Given the description of an element on the screen output the (x, y) to click on. 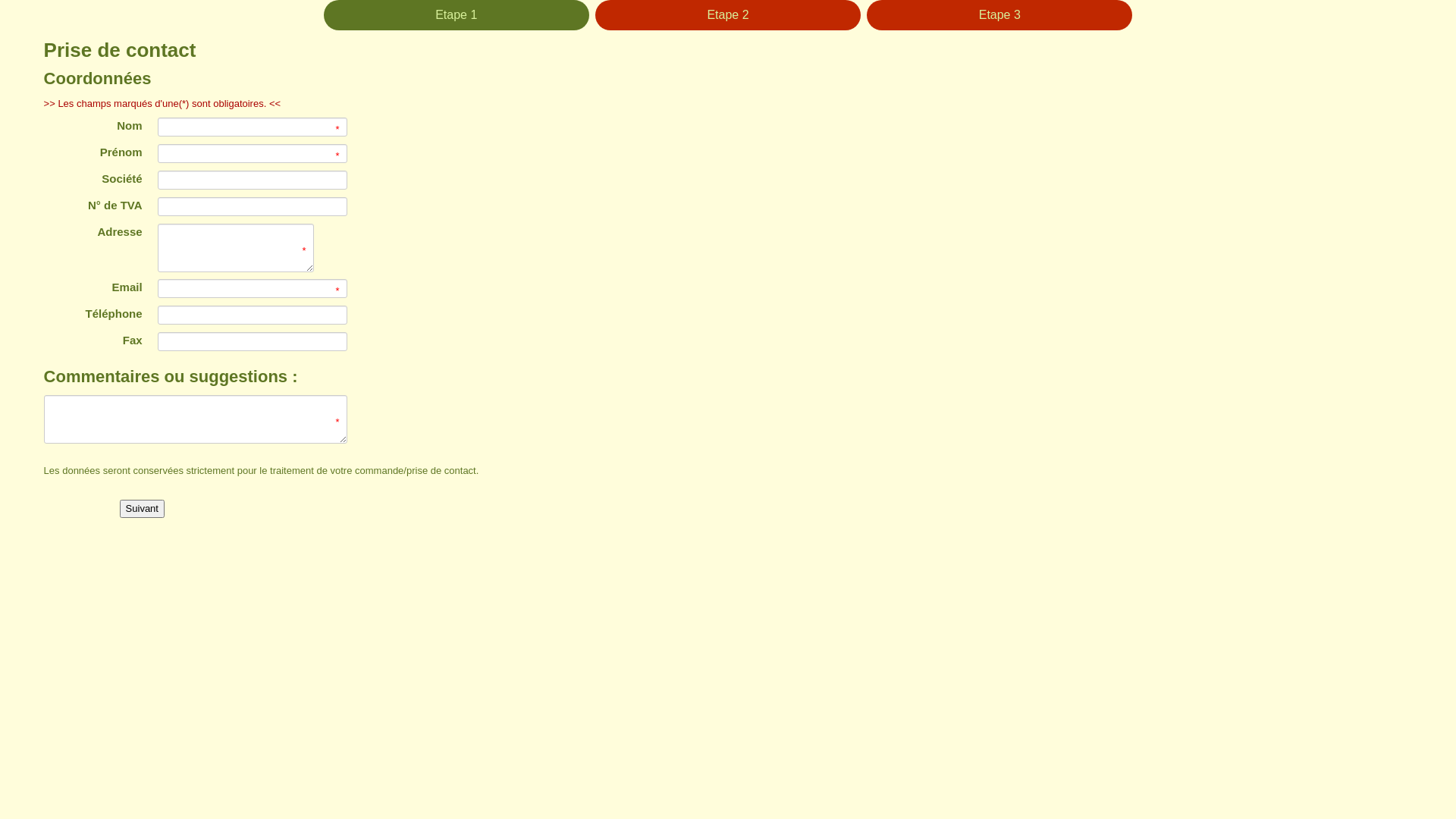
Suivant Element type: text (141, 508)
